Given the description of an element on the screen output the (x, y) to click on. 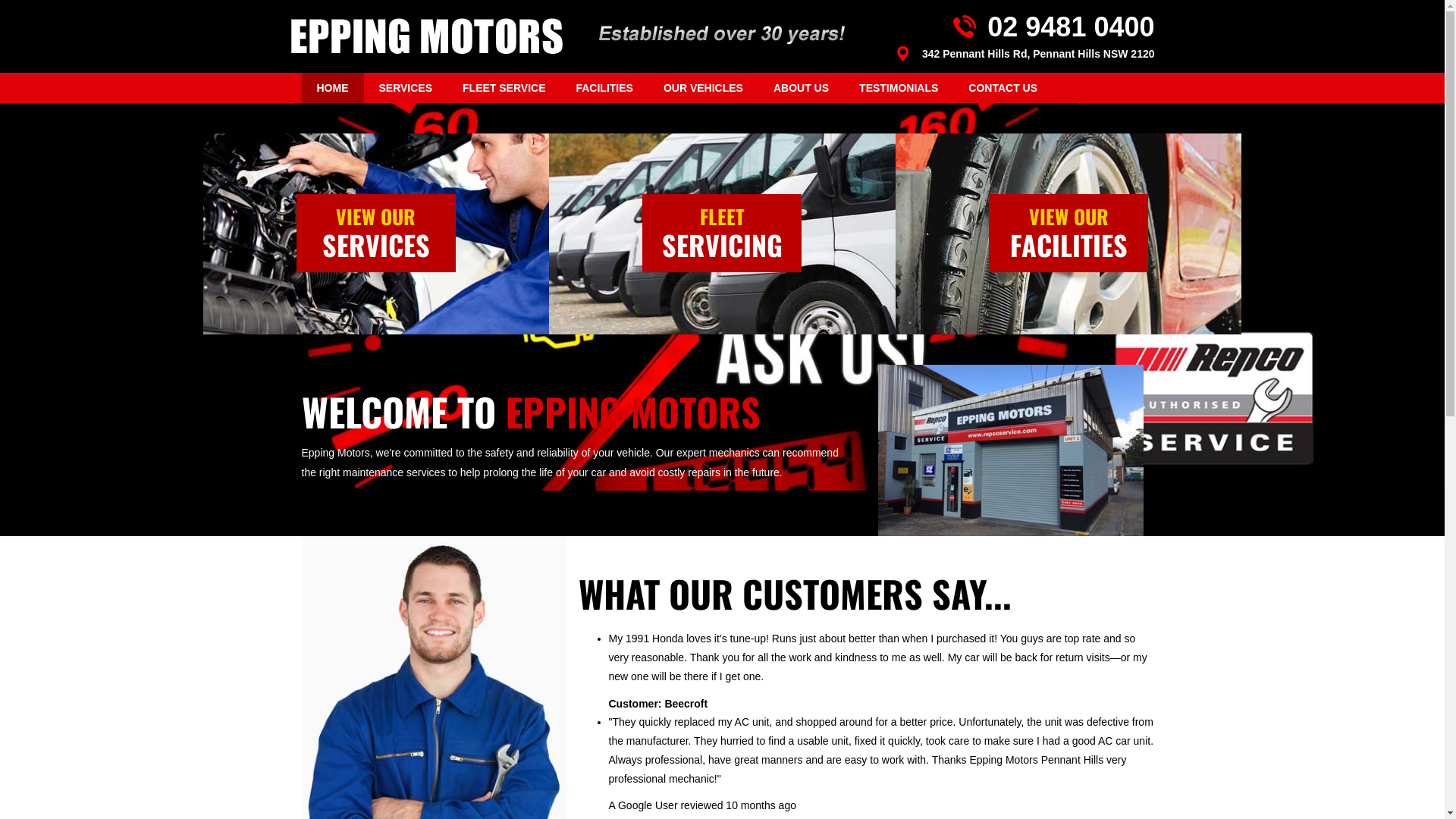
HOME Element type: text (332, 87)
FLEET SERVICE Element type: text (503, 87)
TESTIMONIALS Element type: text (898, 87)
FACILITIES Element type: text (603, 87)
FLEET
SERVICING Element type: text (721, 233)
VIEW OUR
SERVICES Element type: text (375, 233)
CONTACT US Element type: text (1002, 87)
Epping Motors Element type: hover (425, 36)
VIEW OUR
FACILITIES Element type: text (1068, 233)
02 9481 0400 Element type: text (1017, 26)
SERVICES Element type: text (406, 87)
ABOUT US Element type: text (801, 87)
OUR VEHICLES Element type: text (703, 87)
